Given the description of an element on the screen output the (x, y) to click on. 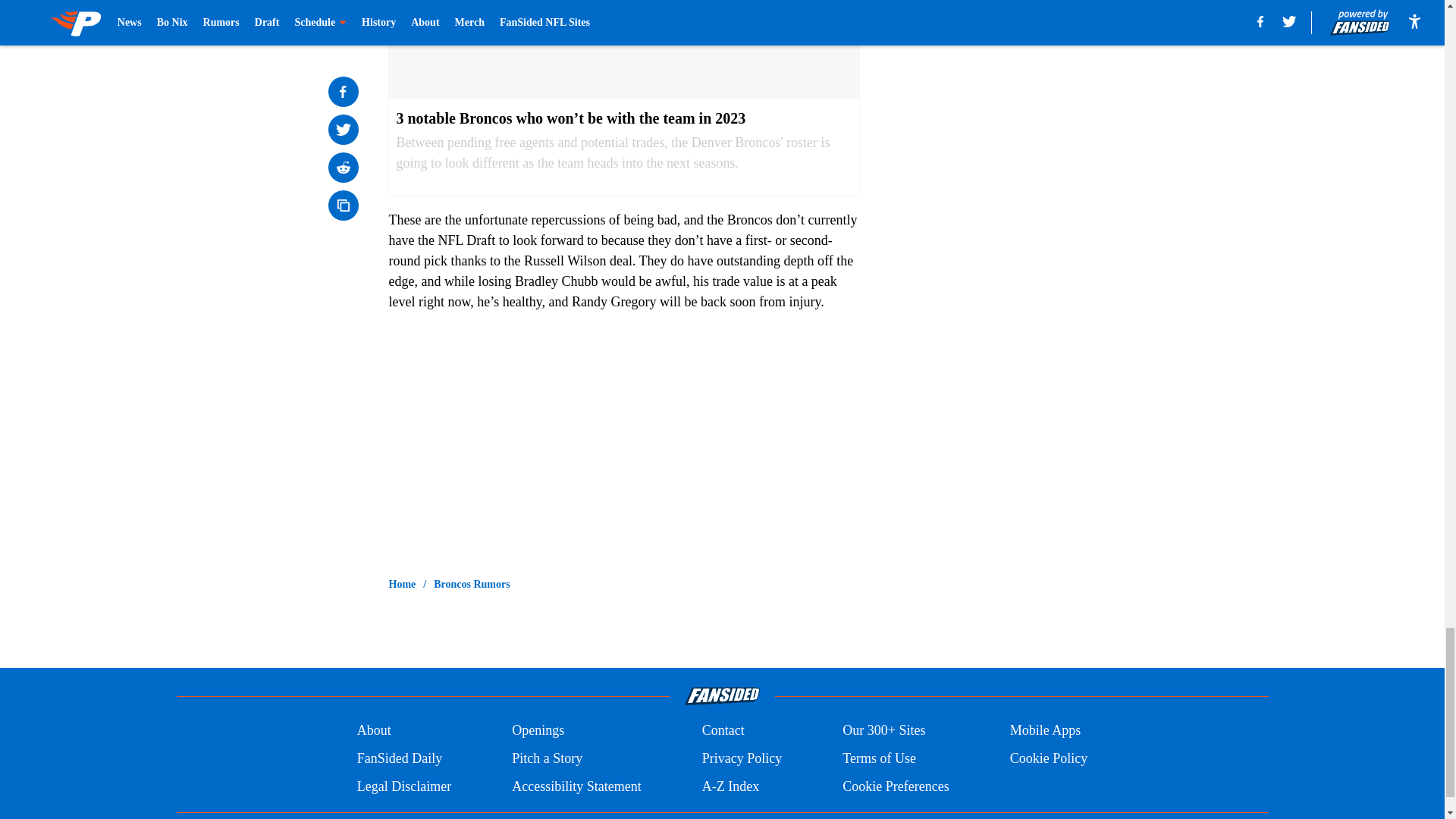
Pitch a Story (547, 758)
Home (401, 584)
Mobile Apps (1045, 730)
Openings (538, 730)
Contact (722, 730)
Terms of Use (879, 758)
Broncos Rumors (471, 584)
Privacy Policy (742, 758)
About (373, 730)
FanSided Daily (399, 758)
